Given the description of an element on the screen output the (x, y) to click on. 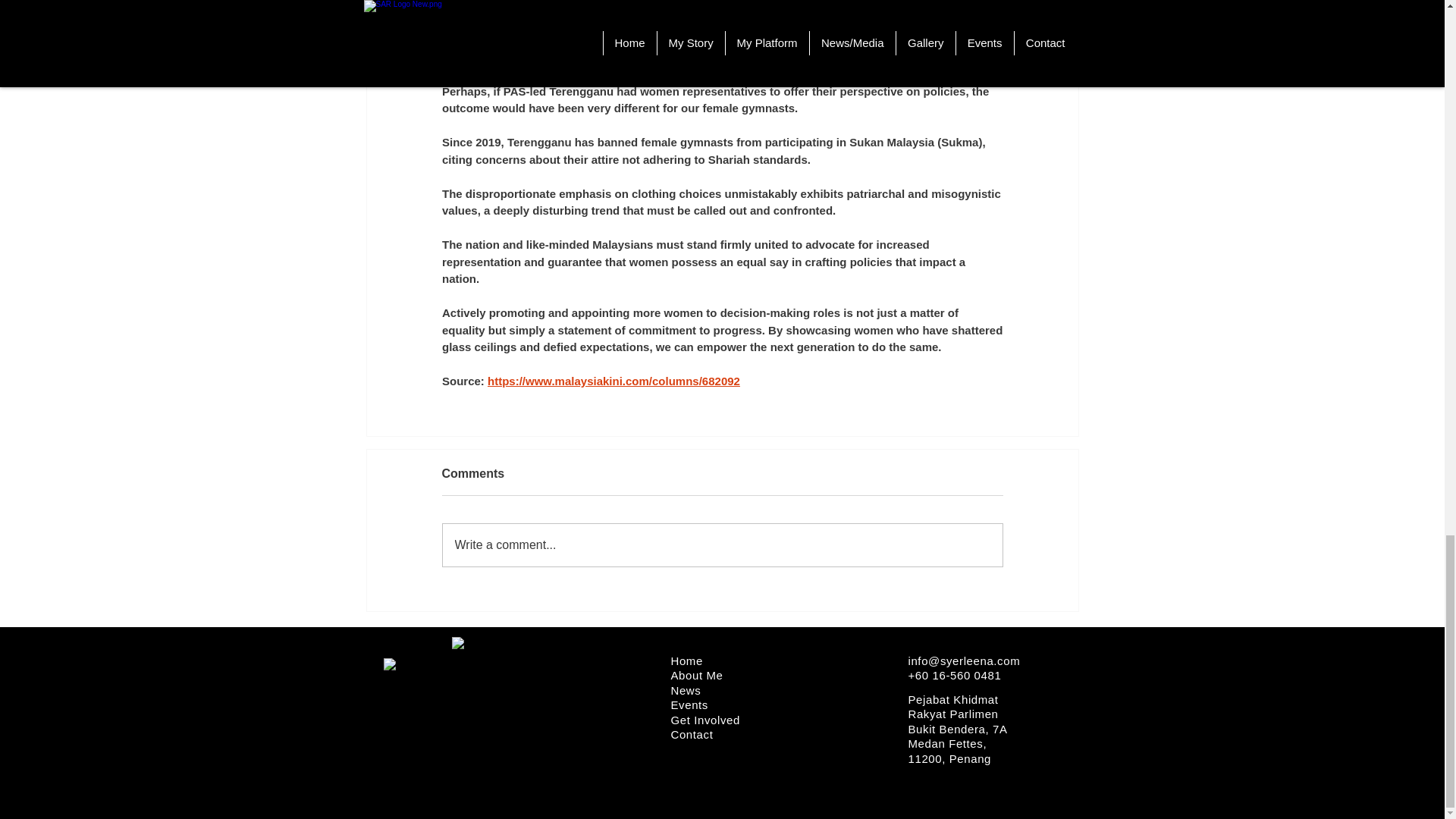
Events (688, 704)
Write a comment... (722, 545)
Contact (691, 734)
Get Involved (704, 719)
News (684, 689)
About Me (695, 675)
Home (685, 660)
